Given the description of an element on the screen output the (x, y) to click on. 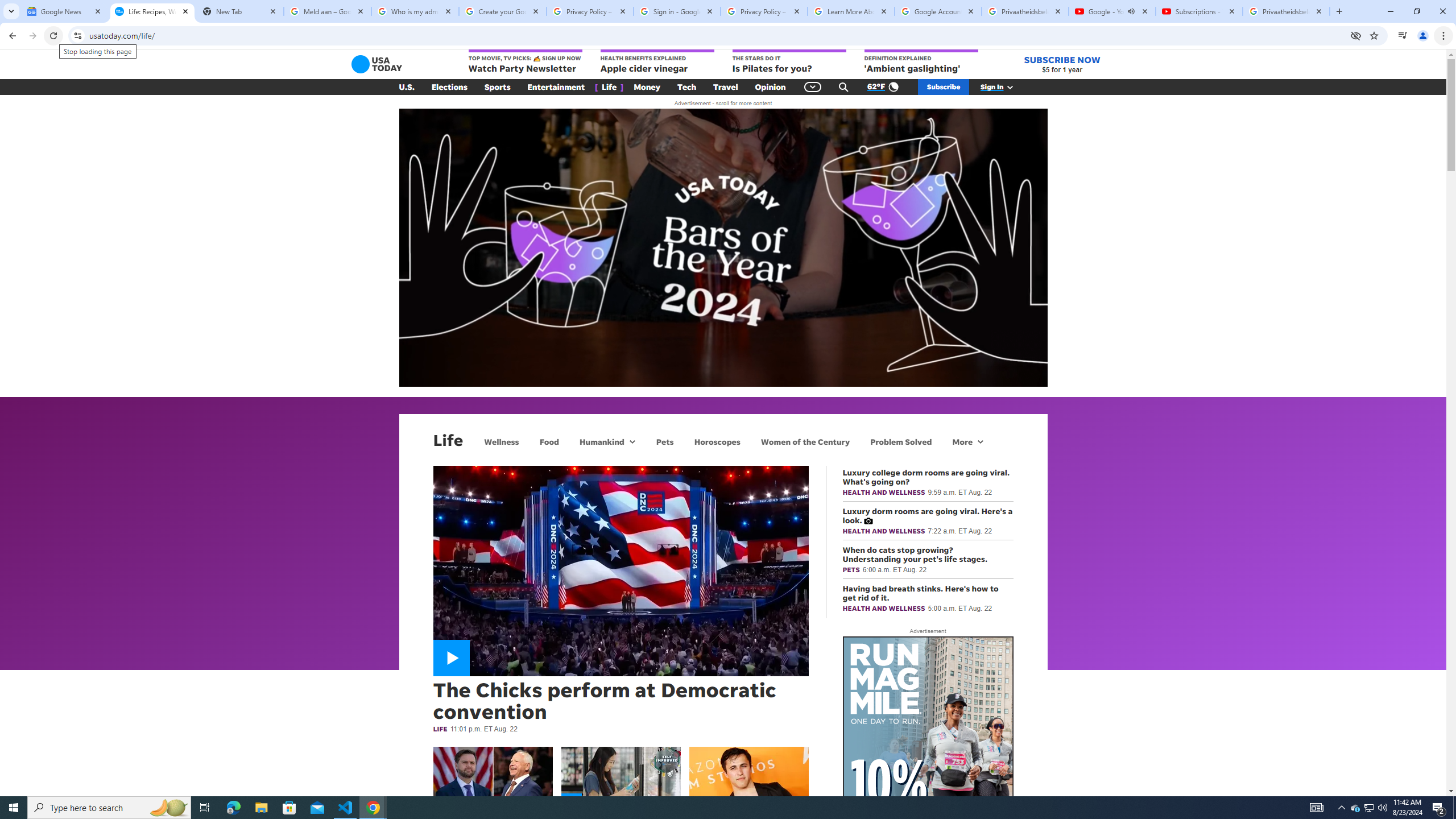
More life navigation (968, 441)
Subscriptions - YouTube (1198, 11)
Subscribe (943, 87)
Women of the Century (805, 441)
USA TODAY (376, 64)
Global Navigation (812, 87)
